Given the description of an element on the screen output the (x, y) to click on. 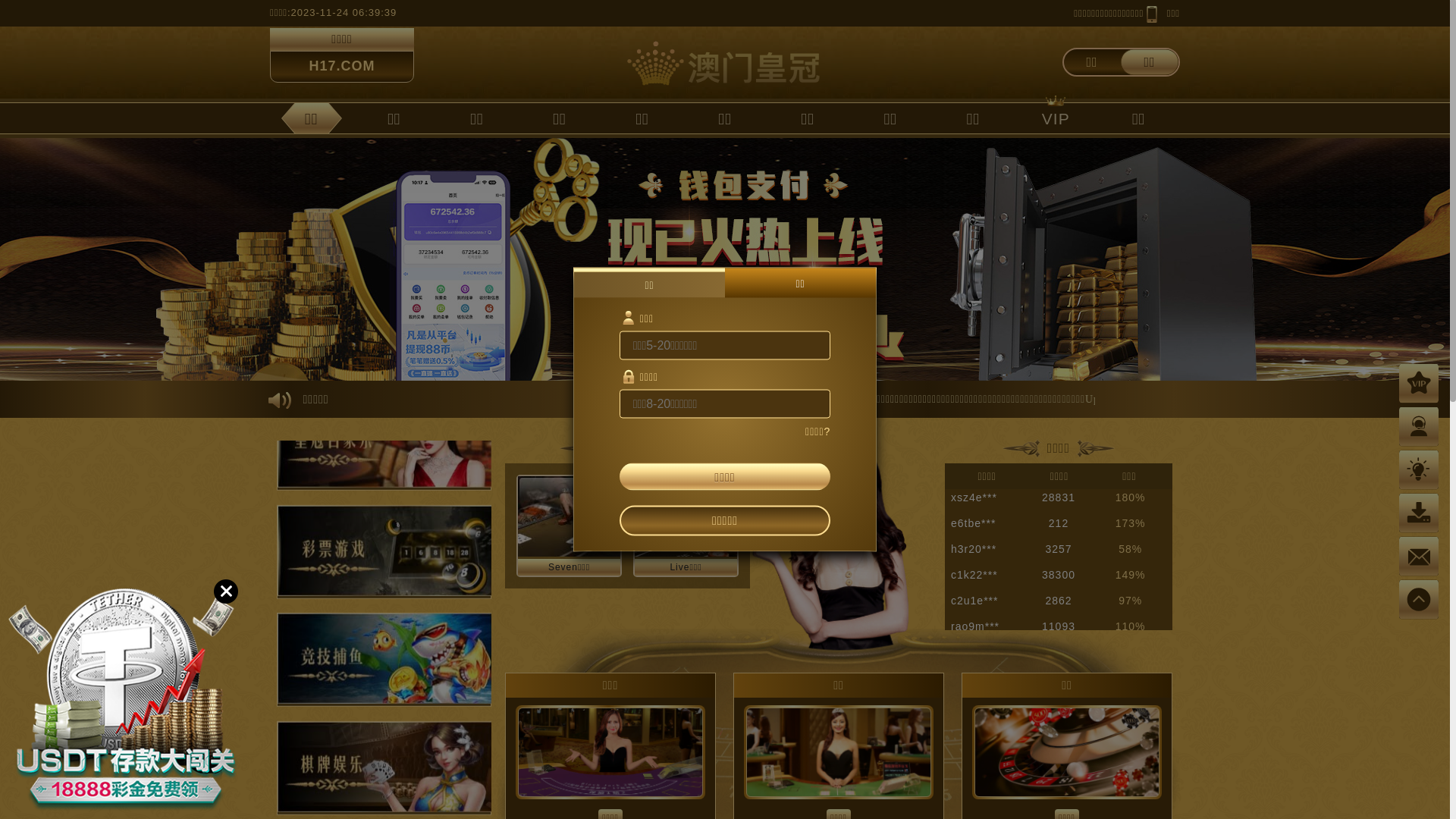
VIP Element type: text (1055, 118)
